Given the description of an element on the screen output the (x, y) to click on. 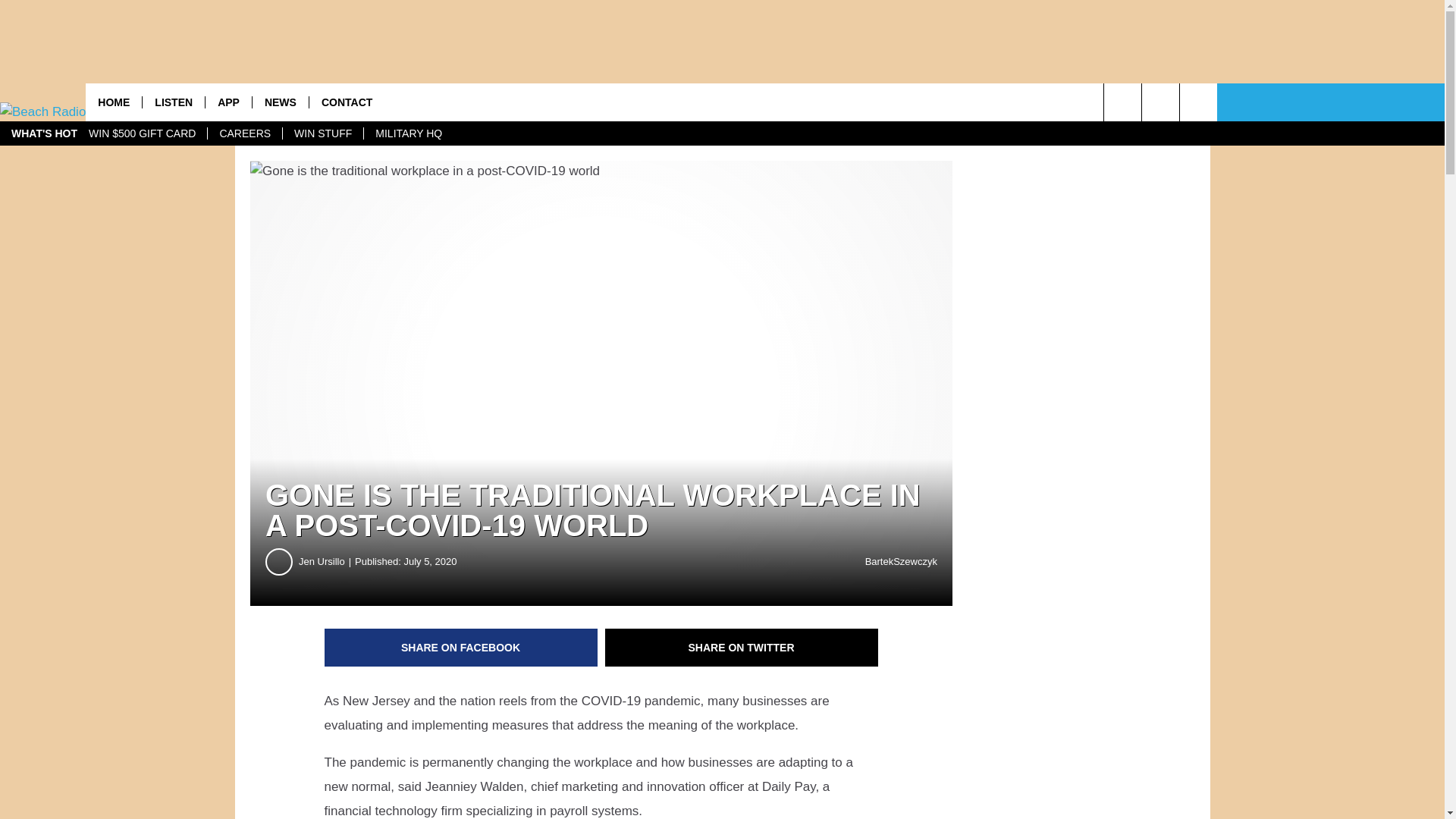
APP (228, 102)
Share on Twitter (741, 647)
HOME (113, 102)
WIN STUFF (322, 133)
Share on Facebook (460, 647)
MILITARY HQ (407, 133)
CAREERS (244, 133)
NEWS (279, 102)
CONTACT (346, 102)
LISTEN (173, 102)
